Given the description of an element on the screen output the (x, y) to click on. 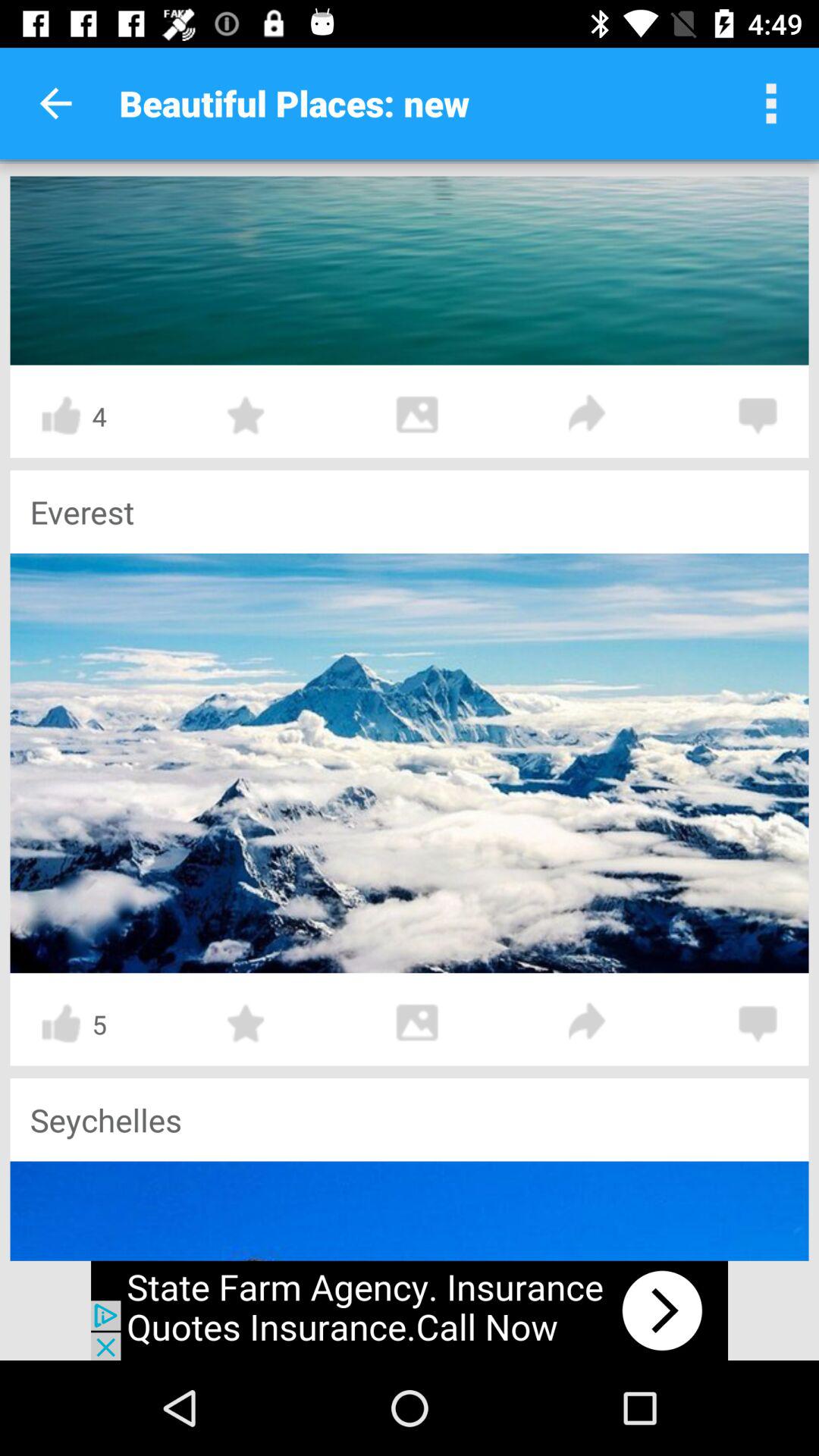
toggle favorites (246, 1023)
